Given the description of an element on the screen output the (x, y) to click on. 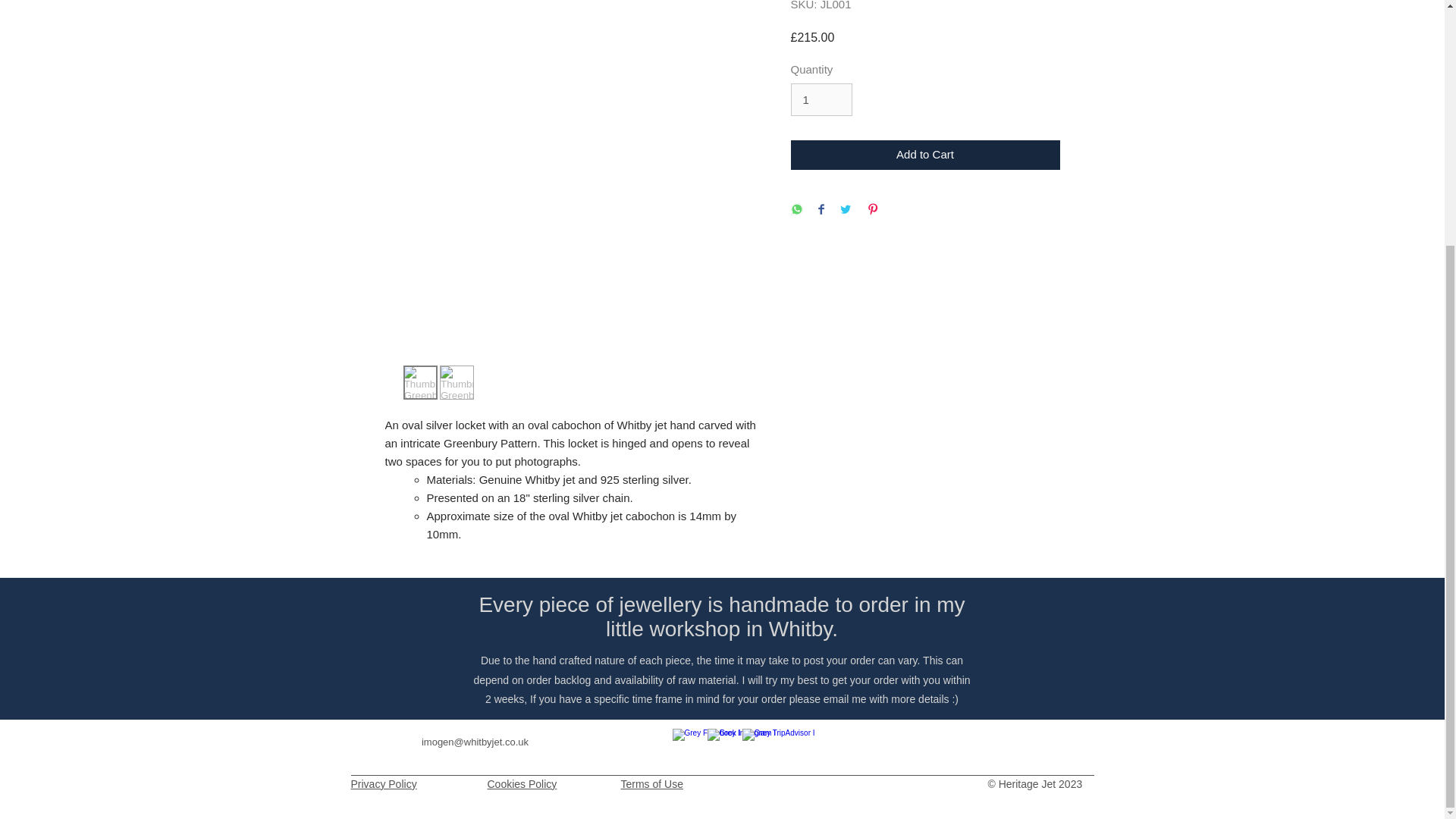
Cookies Policy (521, 784)
Privacy Policy (383, 784)
Add to Cart (924, 154)
1 (820, 100)
Terms of Use (651, 784)
